Given the description of an element on the screen output the (x, y) to click on. 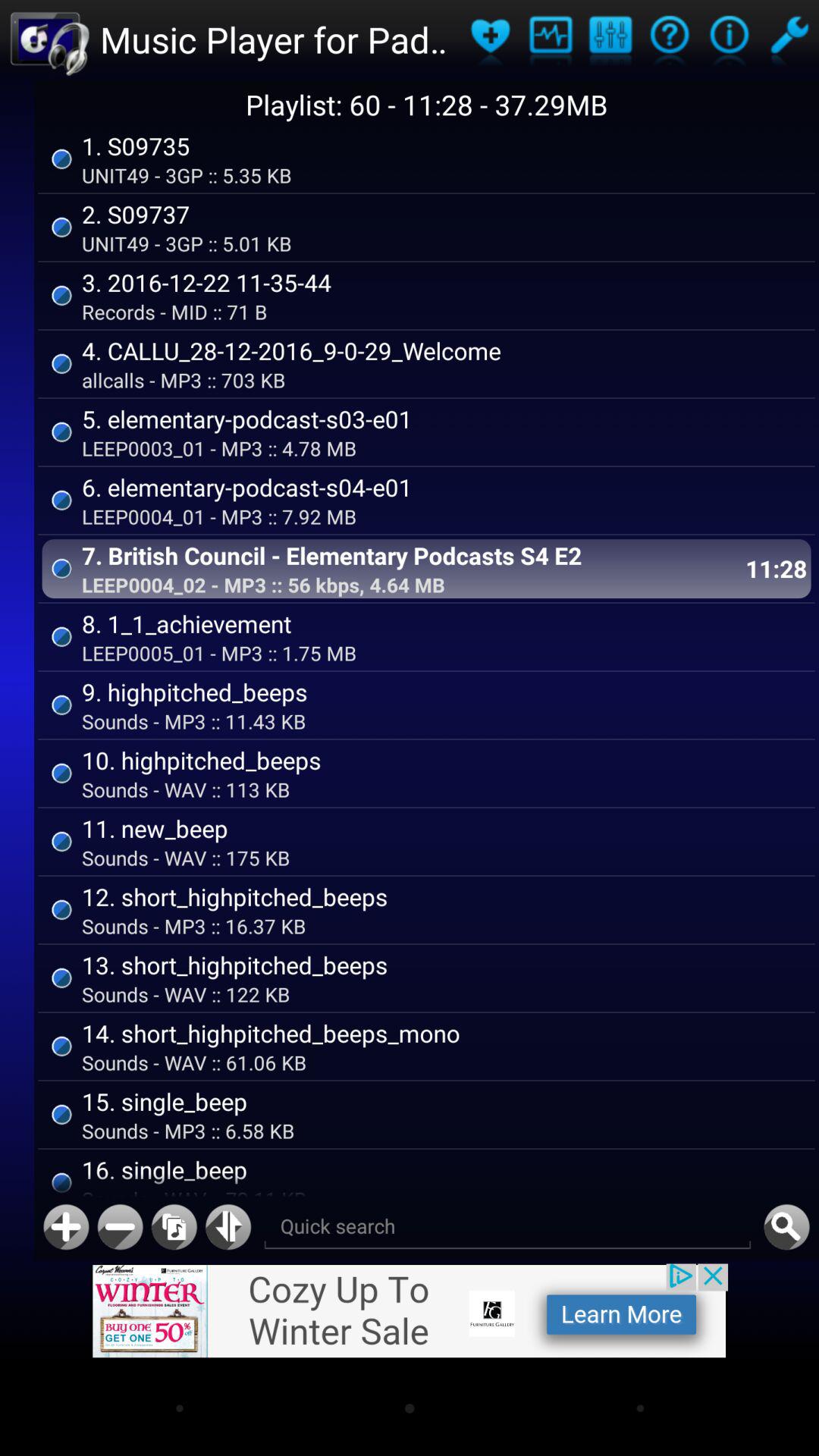
help button (729, 39)
